Given the description of an element on the screen output the (x, y) to click on. 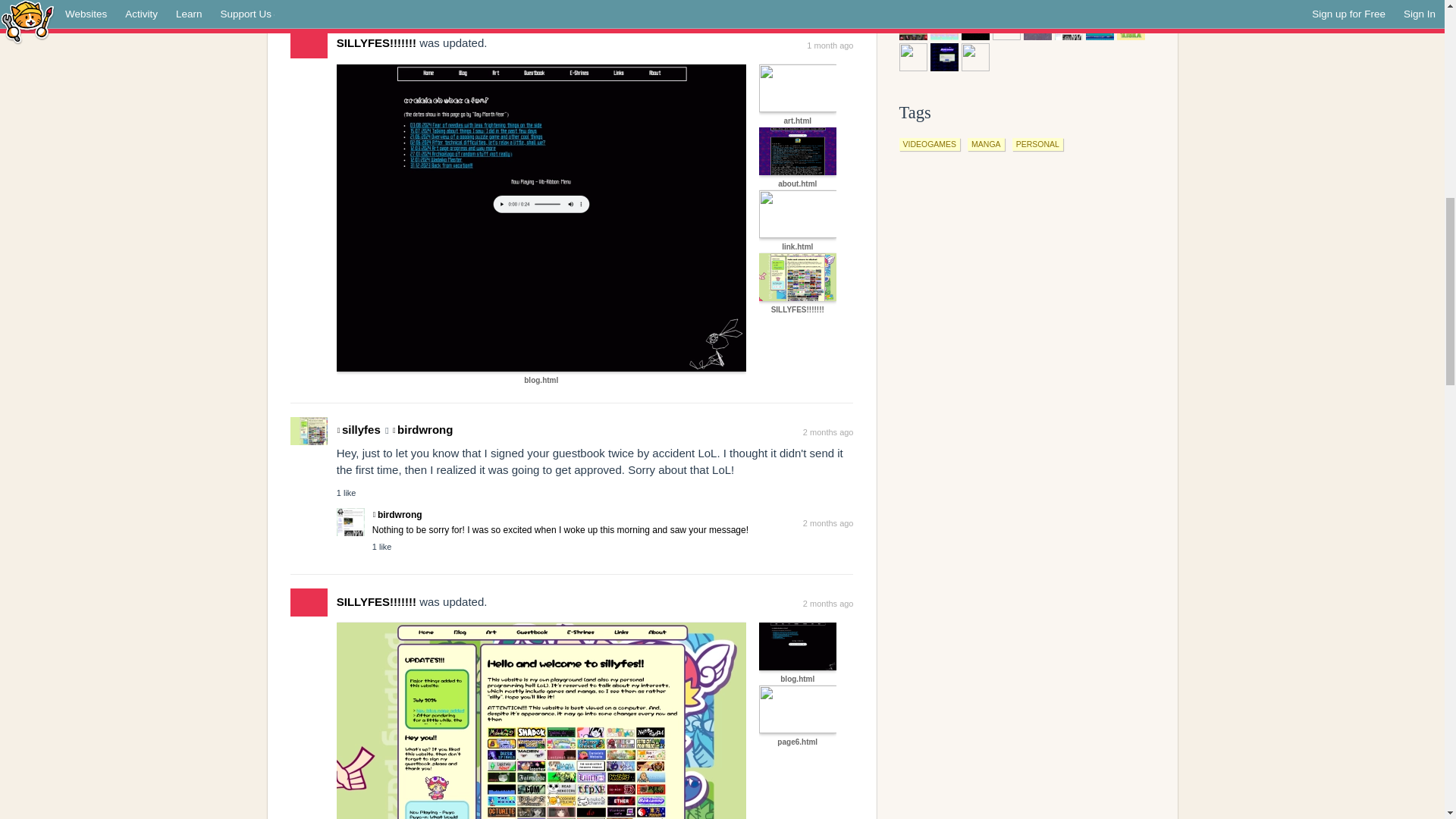
art.html (796, 120)
about.html (796, 183)
blog.html (540, 379)
SILLYFES!!!!!!! (376, 42)
birdwrong (397, 514)
1 month ago (829, 44)
art.html (796, 86)
SILLYFES!!!!!!! (796, 275)
blog.html (540, 216)
link.html (796, 246)
